Given the description of an element on the screen output the (x, y) to click on. 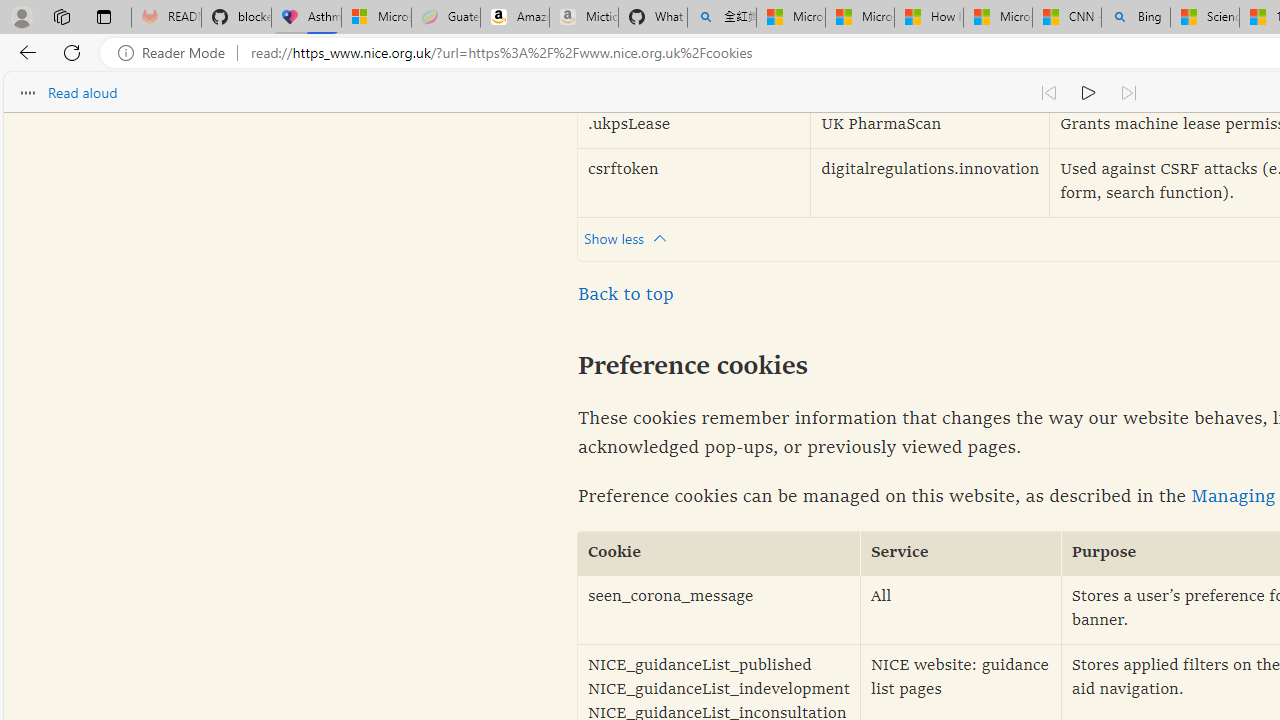
csrftoken (694, 182)
Read previous paragraph (1048, 92)
Reader Mode (177, 53)
Back to top (625, 294)
Science - MSN (1205, 17)
digitalregulations.innovation (929, 182)
Continue to read aloud (Ctrl+Shift+U) (1088, 92)
Cookie (719, 554)
CNN - MSN (1066, 17)
seen_corona_message (719, 610)
